Given the description of an element on the screen output the (x, y) to click on. 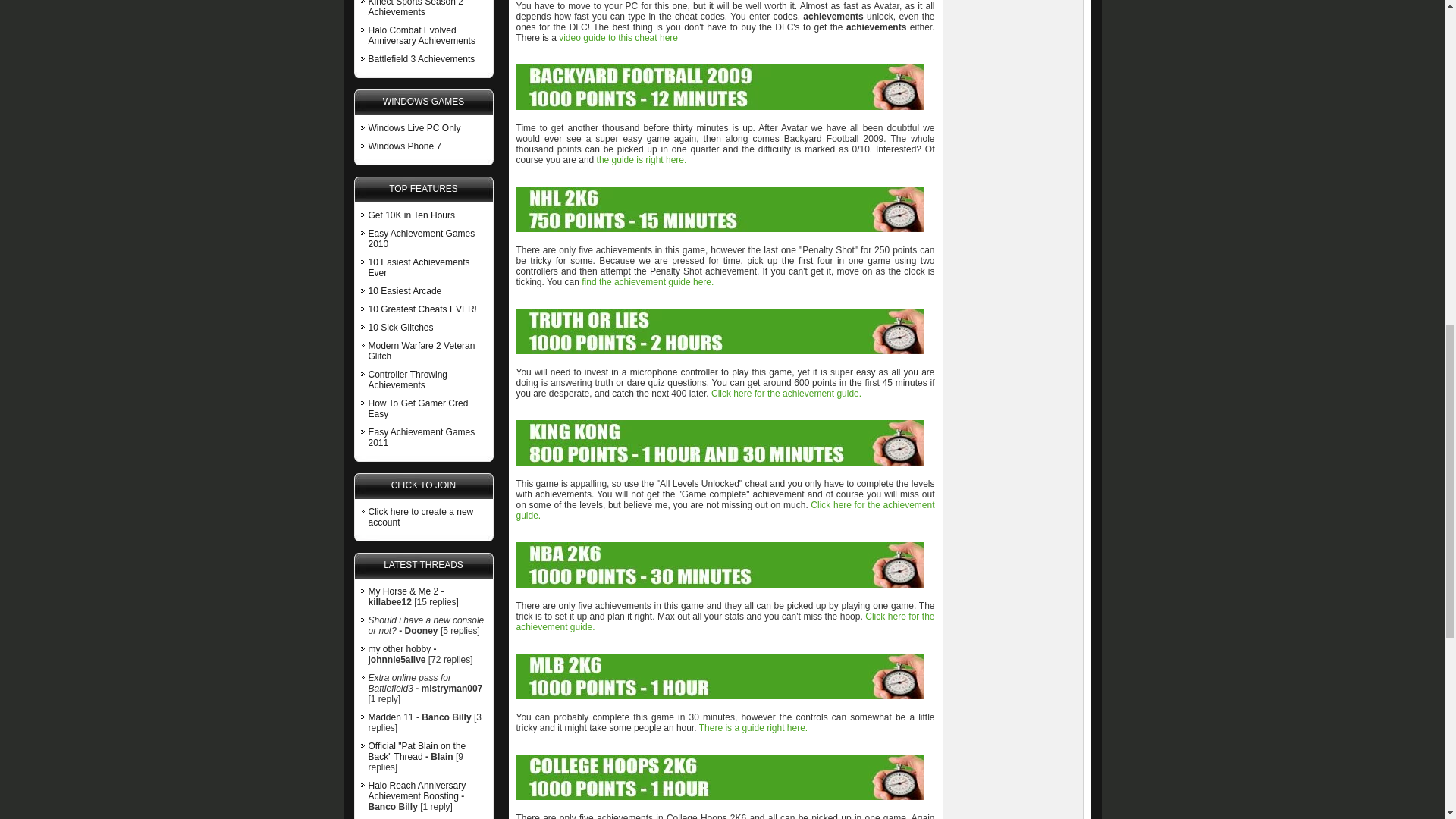
Kinect Sports Season 2 Achievements (415, 8)
Halo Combat Evolved Anniversary Achievements (422, 35)
Kinect Sports Season 2 Achievements (415, 8)
10 Easiest Achievements Ever (419, 267)
Halo Combat Evolved Anniversary Achievements (422, 35)
Get 10K in Ten Hours (411, 214)
10 Greatest Cheats EVER! (422, 308)
Battlefield 3 Achievements (422, 59)
Windows Phone 7 (405, 145)
Easy Achievement Games 2010 (422, 238)
10 Easiest Arcade (405, 290)
Battlefield 3 Achievements (422, 59)
Windows Live PC Only (414, 127)
